Given the description of an element on the screen output the (x, y) to click on. 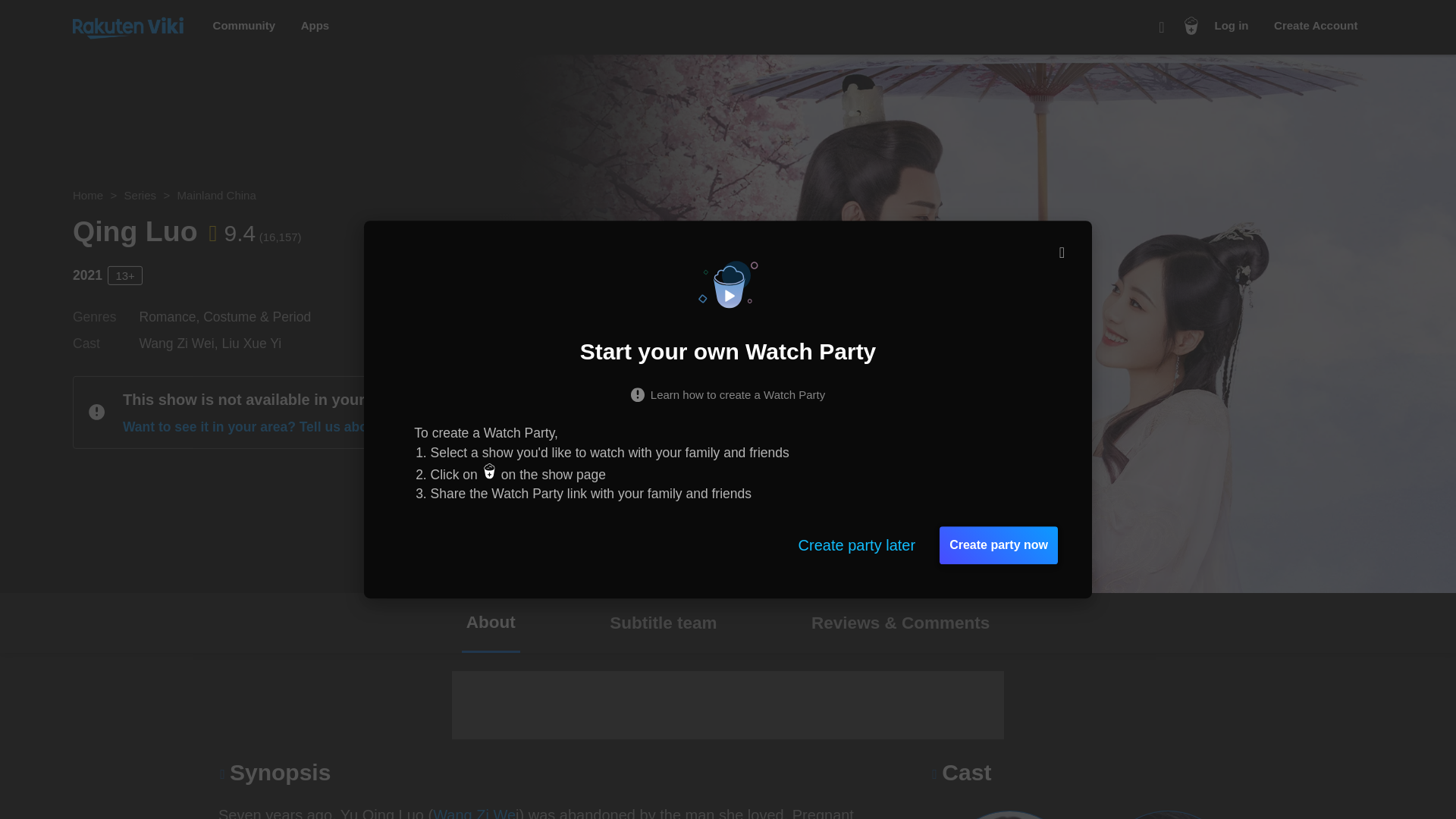
Wang Zi Wei, (180, 343)
Home (87, 195)
Liu Xue Yi (251, 343)
Subtitle team (662, 622)
Create Account (1315, 25)
Log in (1231, 25)
Learn how to create a Watch Party (727, 393)
Create party later (856, 545)
About (490, 622)
Want to see it in your area? Tell us about it! (268, 426)
Series (140, 195)
Apps (315, 25)
Community (244, 25)
Romance, (171, 316)
Mainland China (216, 195)
